Given the description of an element on the screen output the (x, y) to click on. 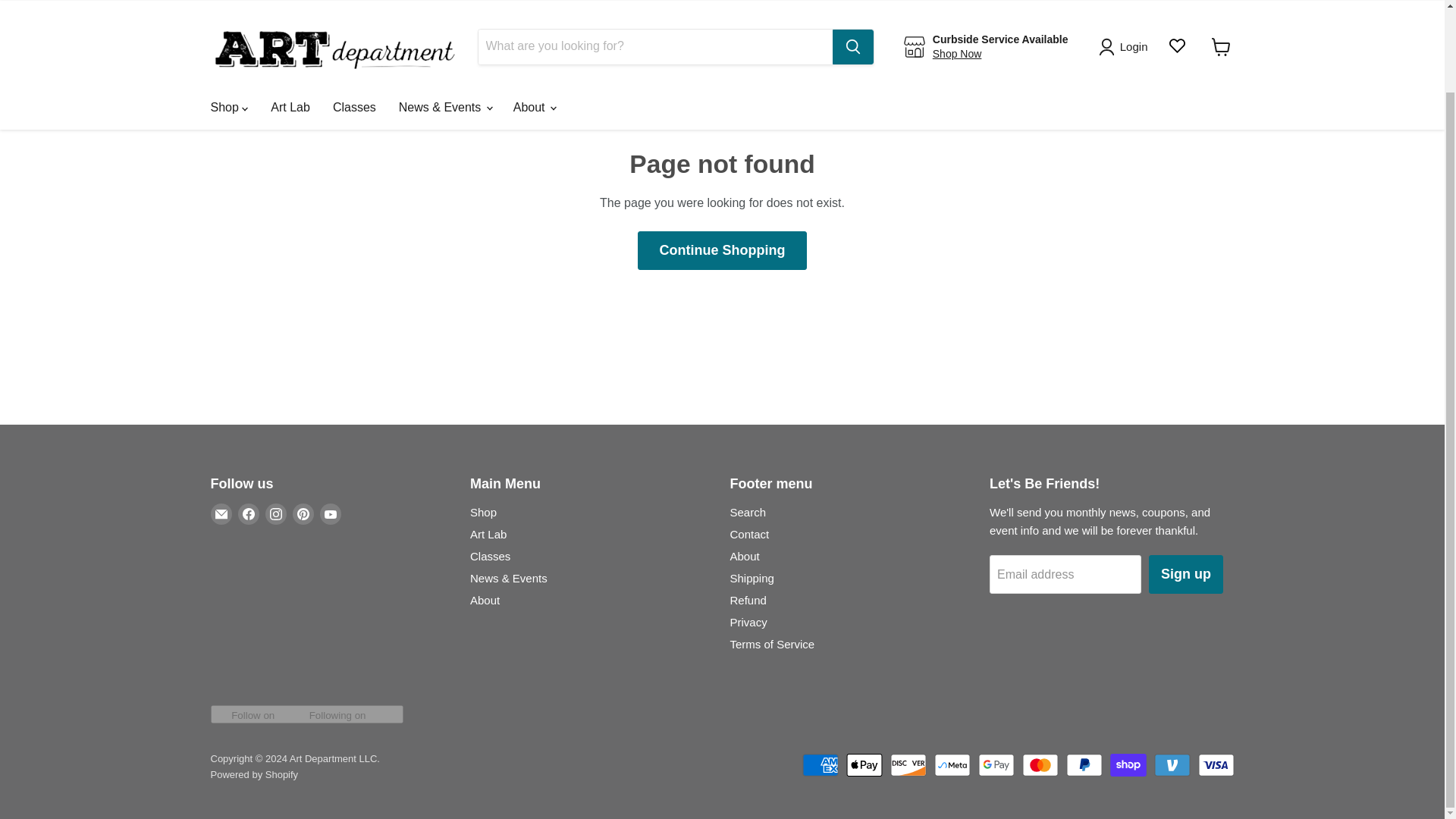
Instagram (275, 513)
Email (221, 513)
View cart (1221, 3)
Login (1125, 0)
Mastercard (1040, 764)
Facebook (248, 513)
PayPal (1083, 764)
Pinterest (303, 513)
Meta Pay (952, 764)
Google Pay (996, 764)
YouTube (330, 513)
American Express (820, 764)
Shop Now (957, 2)
Discover (907, 764)
Apple Pay (863, 764)
